Given the description of an element on the screen output the (x, y) to click on. 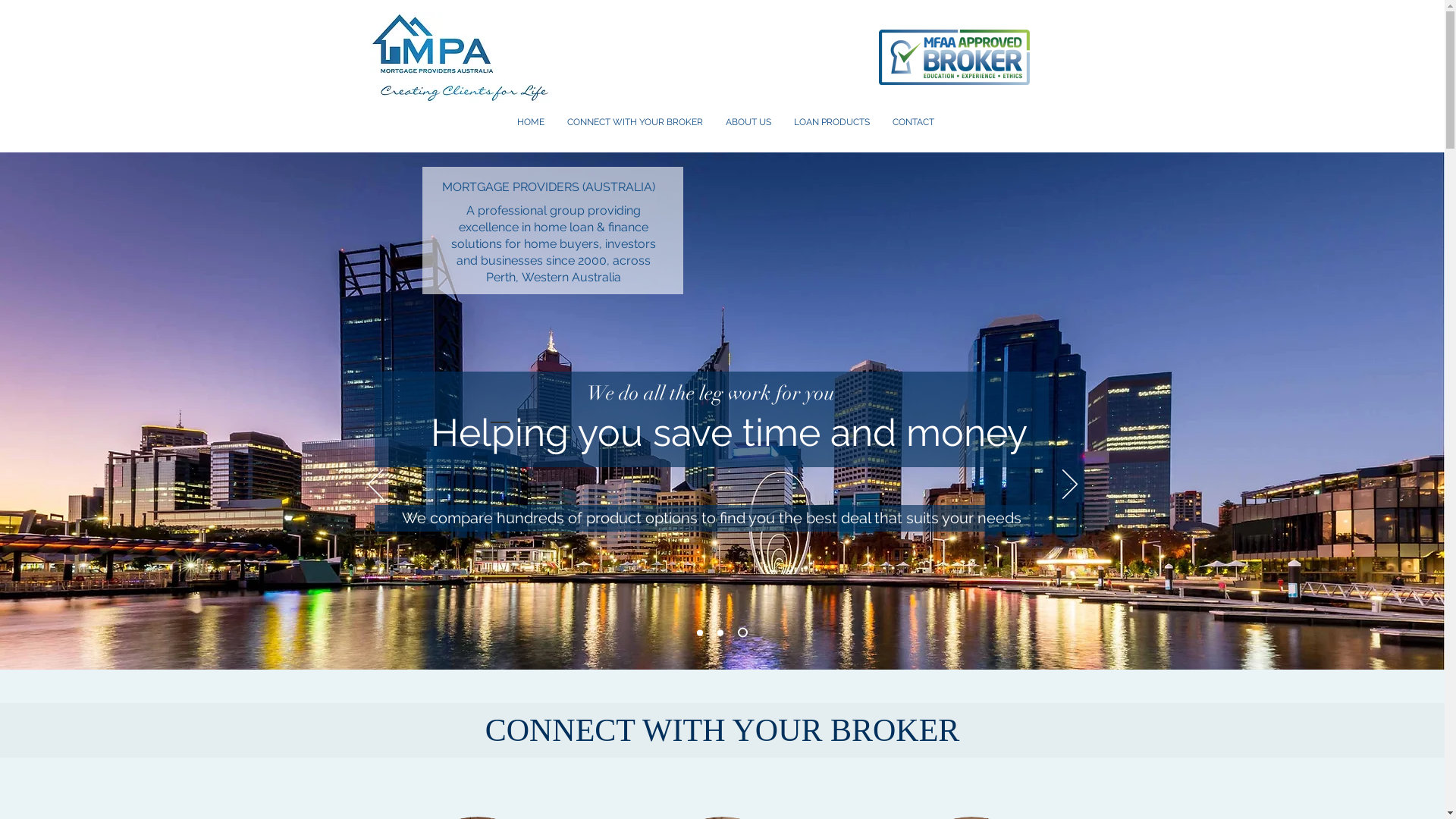
LOAN PRODUCTS Element type: text (831, 121)
MPA_Chad Logo from Caris - 2013 07 03.jpg Element type: hover (459, 57)
CONNECT WITH YOUR BROKER Element type: text (634, 121)
CONTACT Element type: text (913, 121)
HOME Element type: text (530, 121)
ABOUT US Element type: text (748, 121)
